Given the description of an element on the screen output the (x, y) to click on. 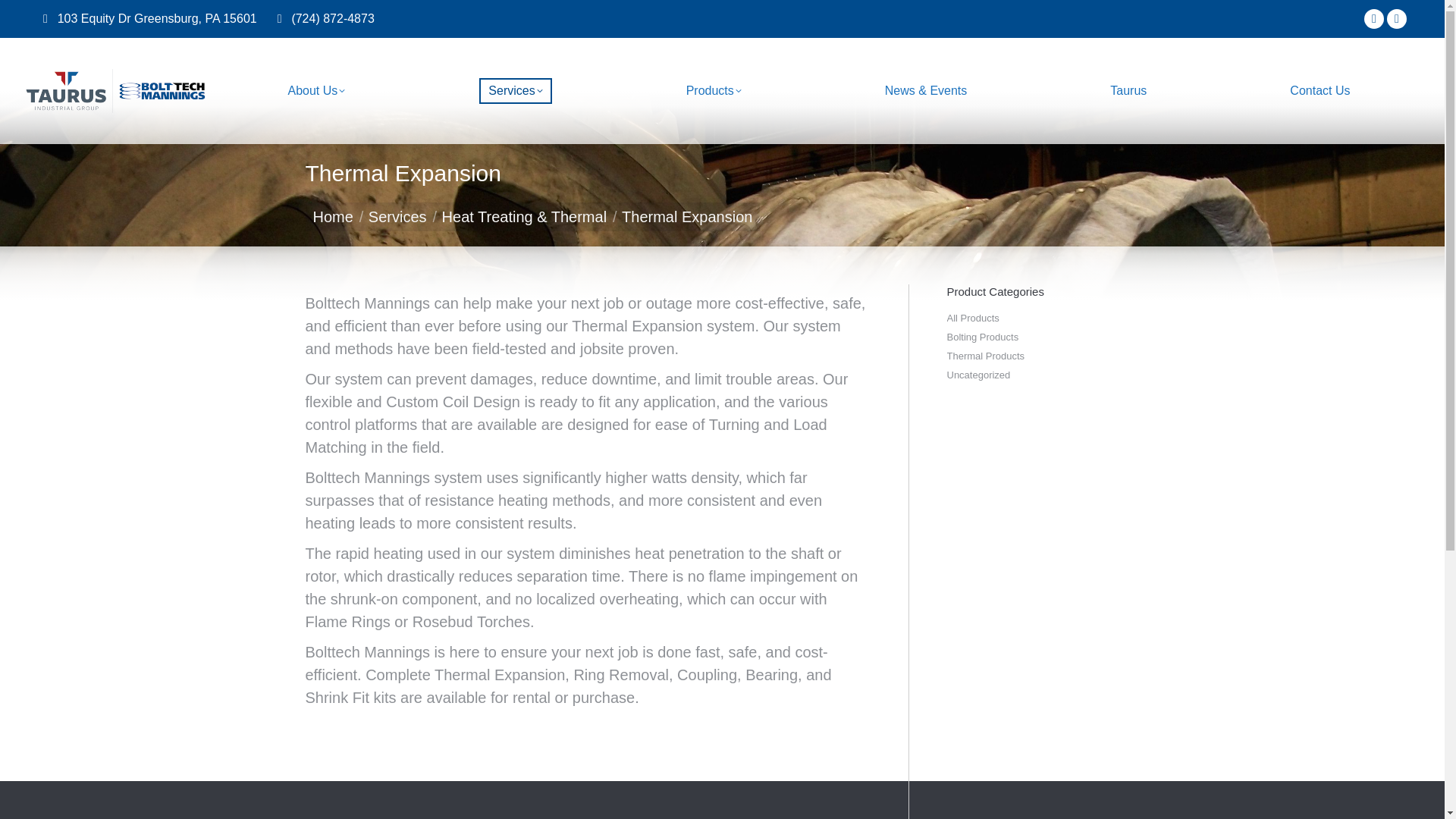
Services (515, 90)
Services (397, 216)
Home (332, 216)
Linkedin page opens in new window (1396, 18)
About Us (317, 90)
Facebook page opens in new window (1374, 18)
Facebook page opens in new window (1374, 18)
Linkedin page opens in new window (1396, 18)
